Given the description of an element on the screen output the (x, y) to click on. 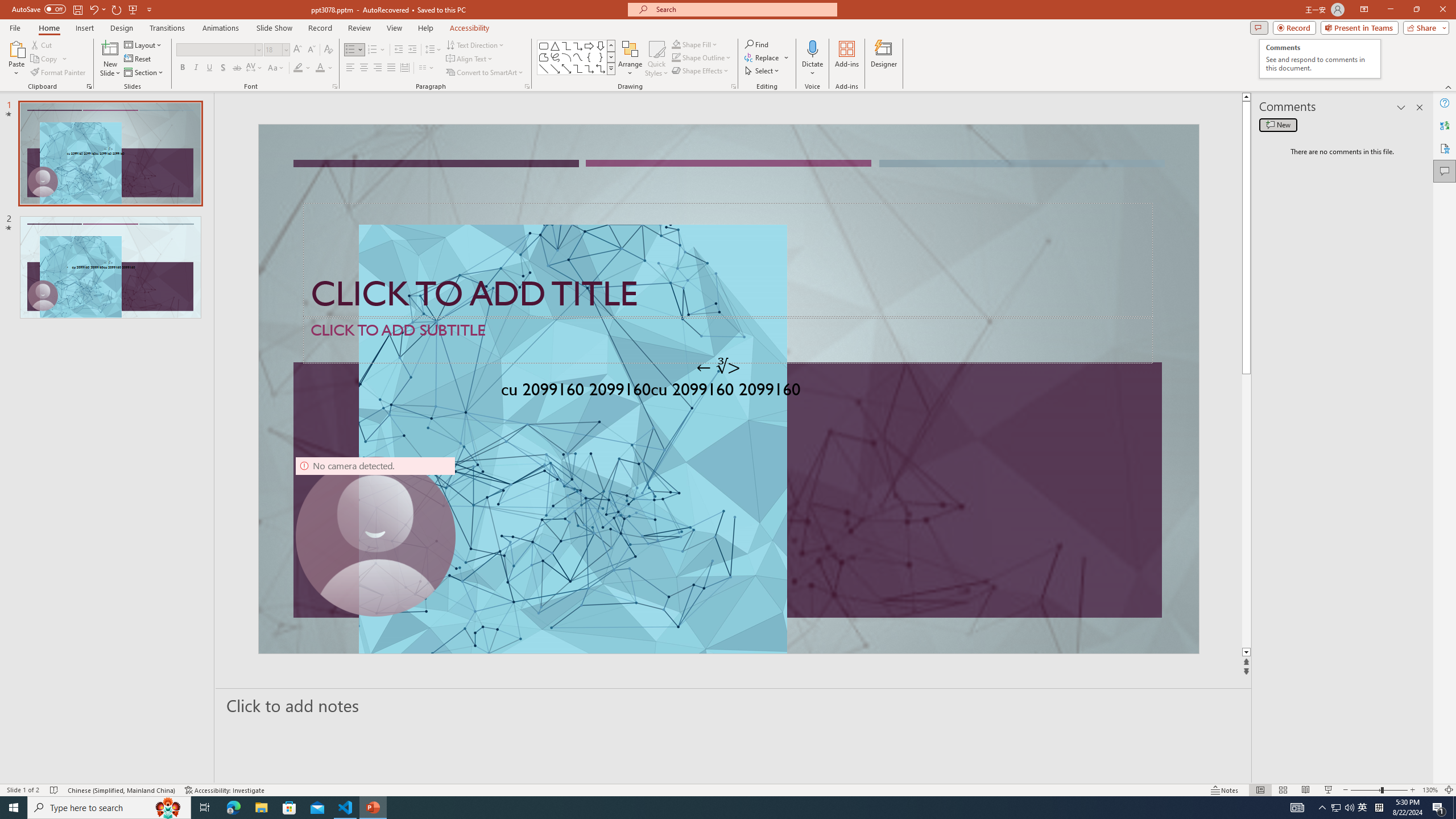
Title TextBox (727, 260)
